Given the description of an element on the screen output the (x, y) to click on. 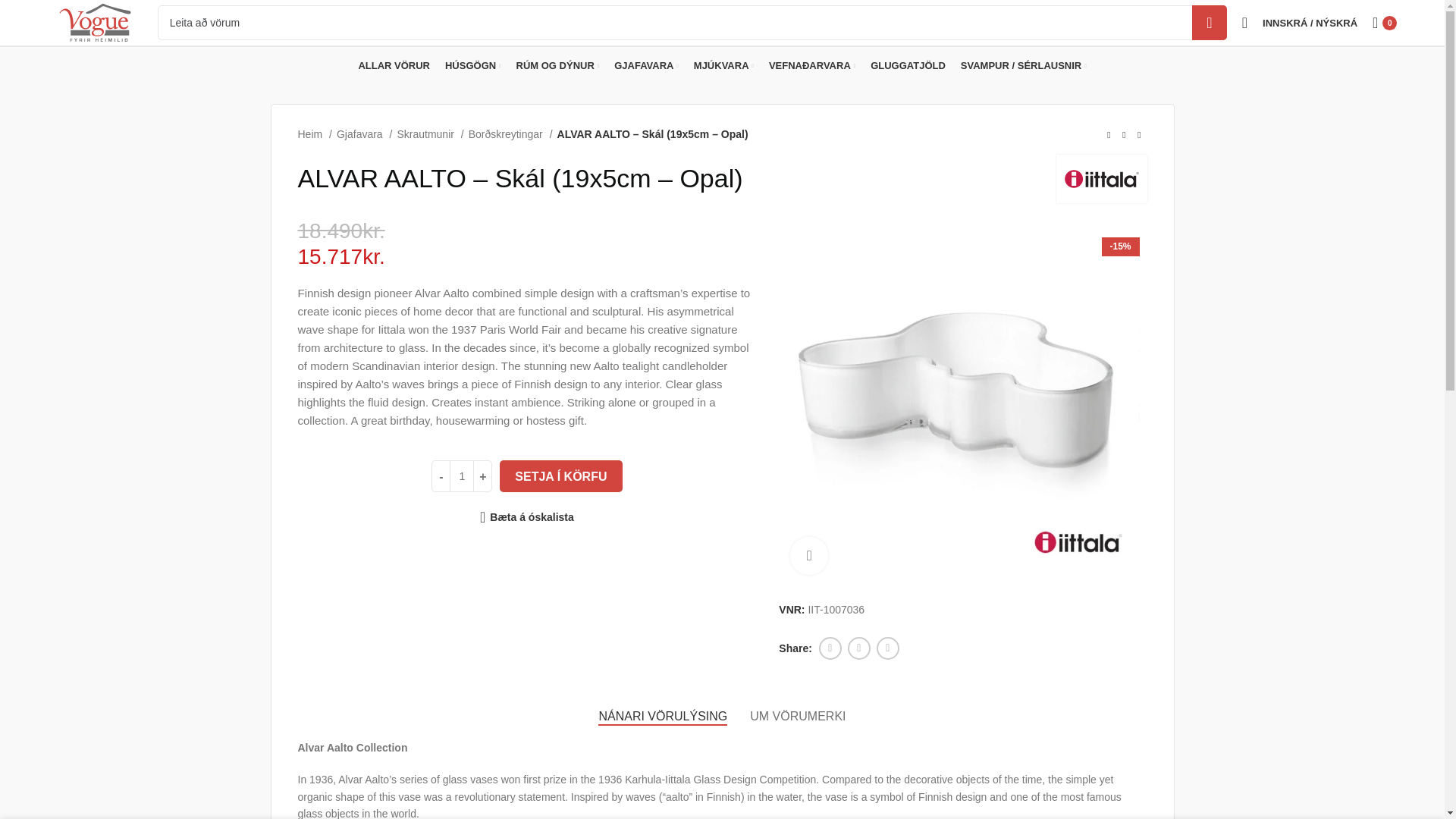
Gjafavara (363, 134)
Skrautmunir (429, 134)
LEITA (1209, 22)
Heim (314, 134)
Karfa (1385, 22)
GJAFAVARA (646, 65)
0 (1385, 22)
Iittala (1100, 179)
